Given the description of an element on the screen output the (x, y) to click on. 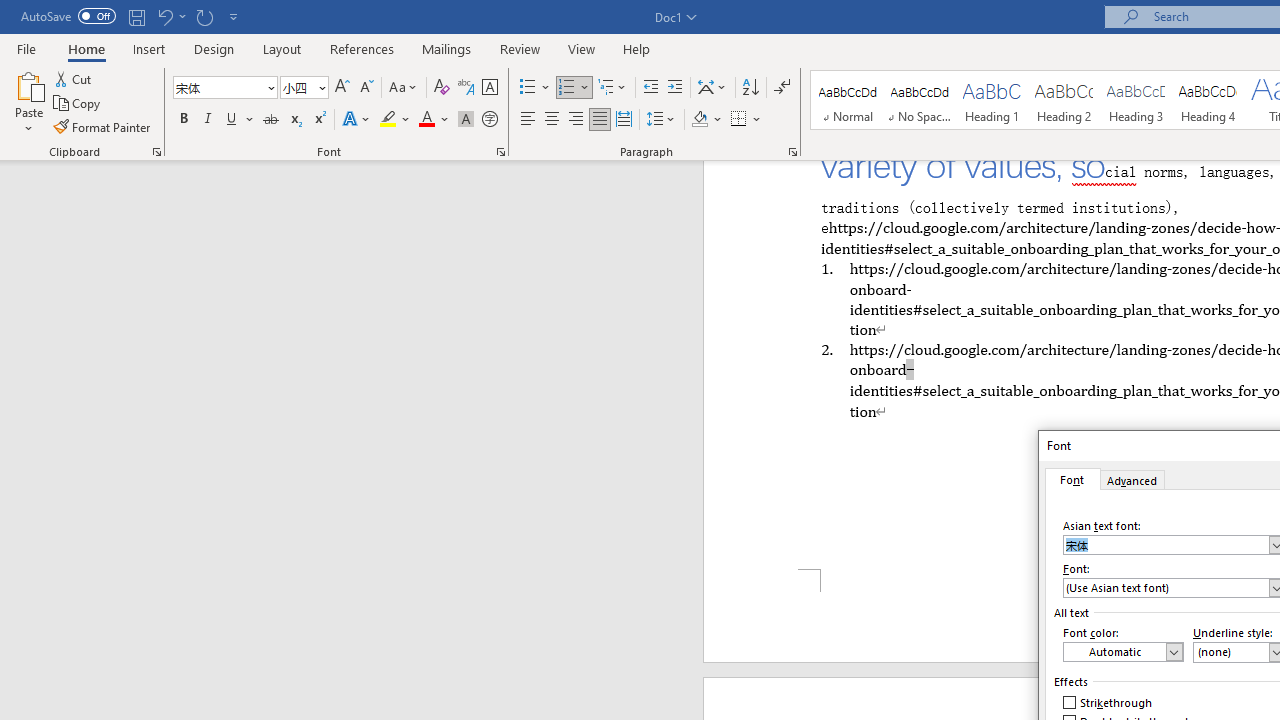
Mailings (447, 48)
Increase Indent (675, 87)
Paste (28, 84)
Cut (73, 78)
Font Size (297, 87)
Phonetic Guide... (465, 87)
Quick Access Toolbar (131, 16)
Underline (239, 119)
Distributed (623, 119)
Strikethrough (270, 119)
Shading (706, 119)
Font Color (434, 119)
System (10, 11)
Change Case (404, 87)
